Given the description of an element on the screen output the (x, y) to click on. 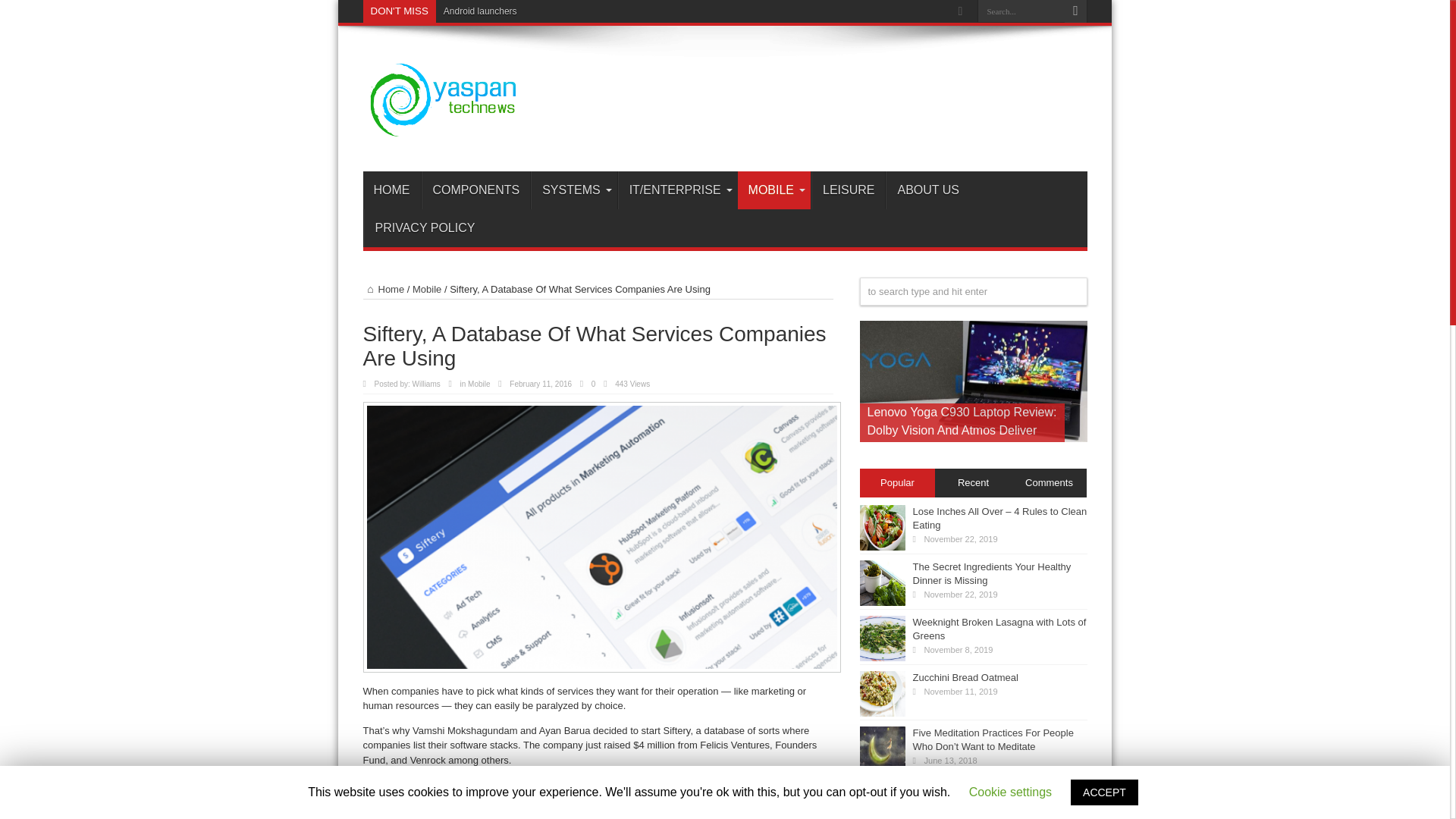
Android launchers (480, 11)
Android launchers (480, 11)
Mobile (478, 384)
to search type and hit enter (973, 291)
MOBILE (774, 190)
Search... (1020, 11)
PRIVACY POLICY (425, 228)
Yaspan (443, 133)
Williams (426, 384)
Search (1075, 11)
LEISURE (847, 190)
ABOUT US (927, 190)
Mobile (426, 288)
Home (383, 288)
